Given the description of an element on the screen output the (x, y) to click on. 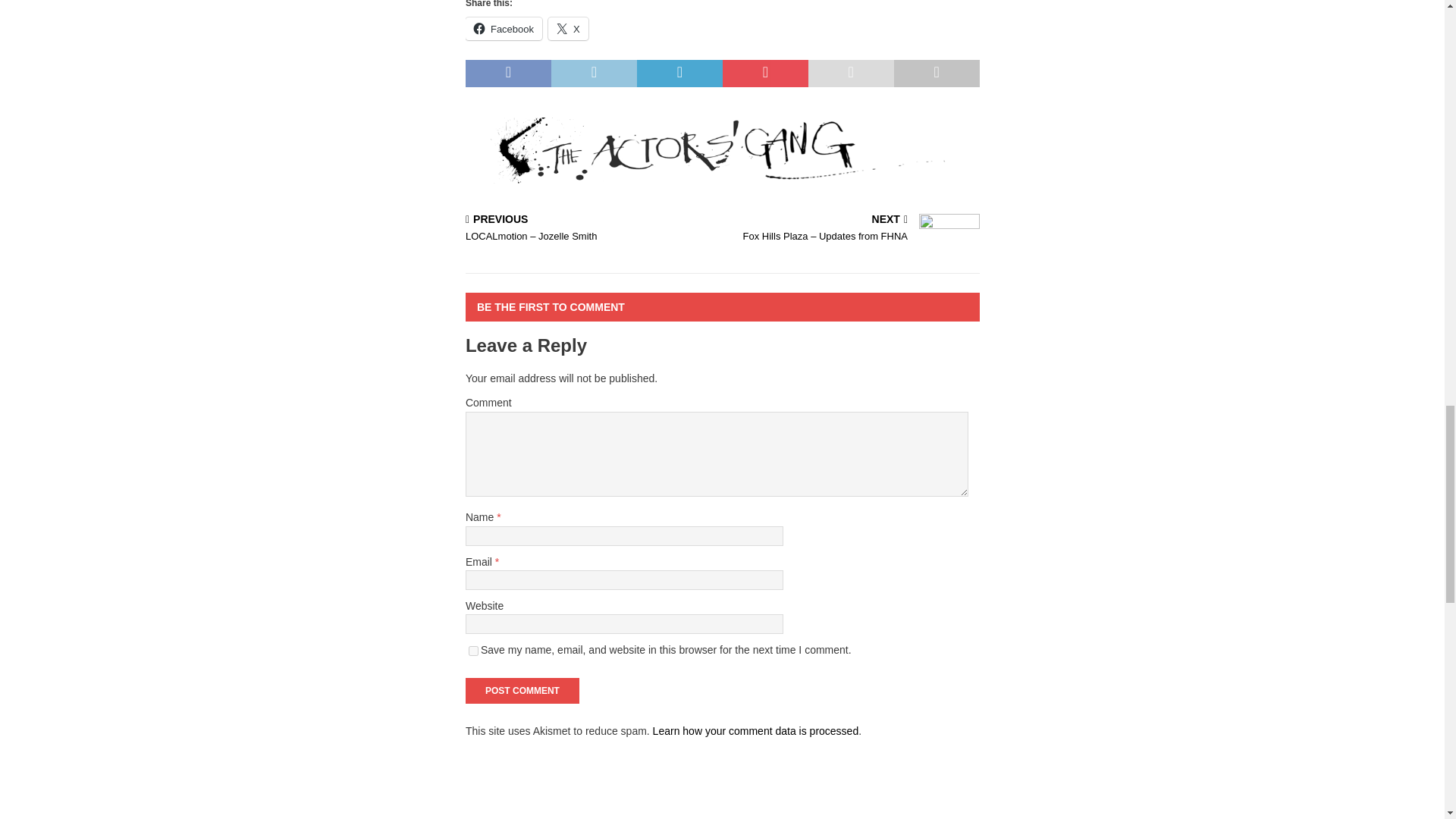
Facebook (503, 28)
Post Comment (522, 690)
yes (473, 651)
X (568, 28)
